Given the description of an element on the screen output the (x, y) to click on. 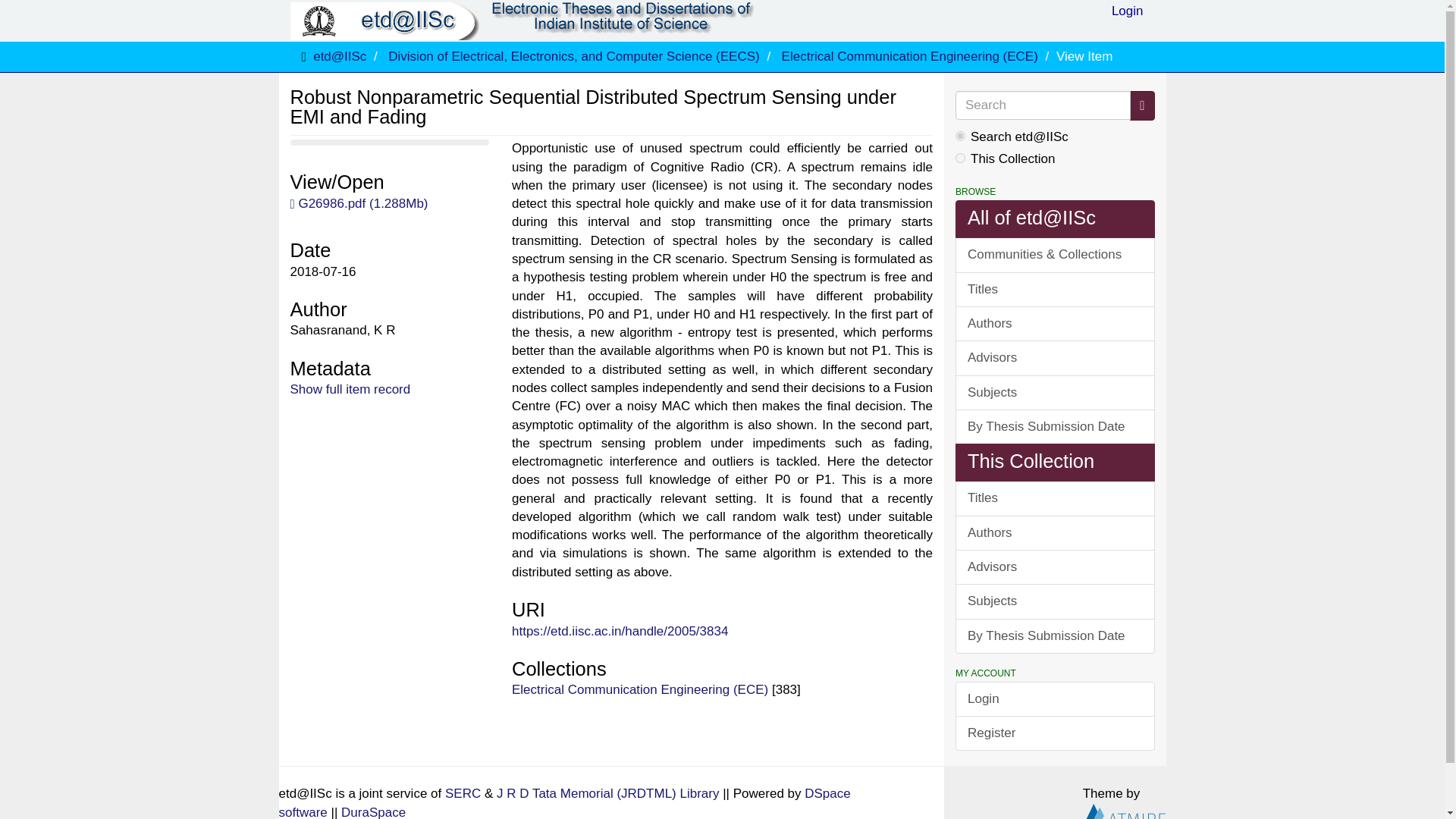
Titles (1054, 289)
Advisors (1054, 566)
This Collection (1054, 462)
Show full item record (349, 389)
Atmire NV (1124, 812)
Authors (1054, 532)
Subjects (1054, 601)
Advisors (1054, 357)
Titles (1054, 497)
Subjects (1054, 392)
Authors (1054, 323)
By Thesis Submission Date (1054, 426)
Login (1127, 15)
